Given the description of an element on the screen output the (x, y) to click on. 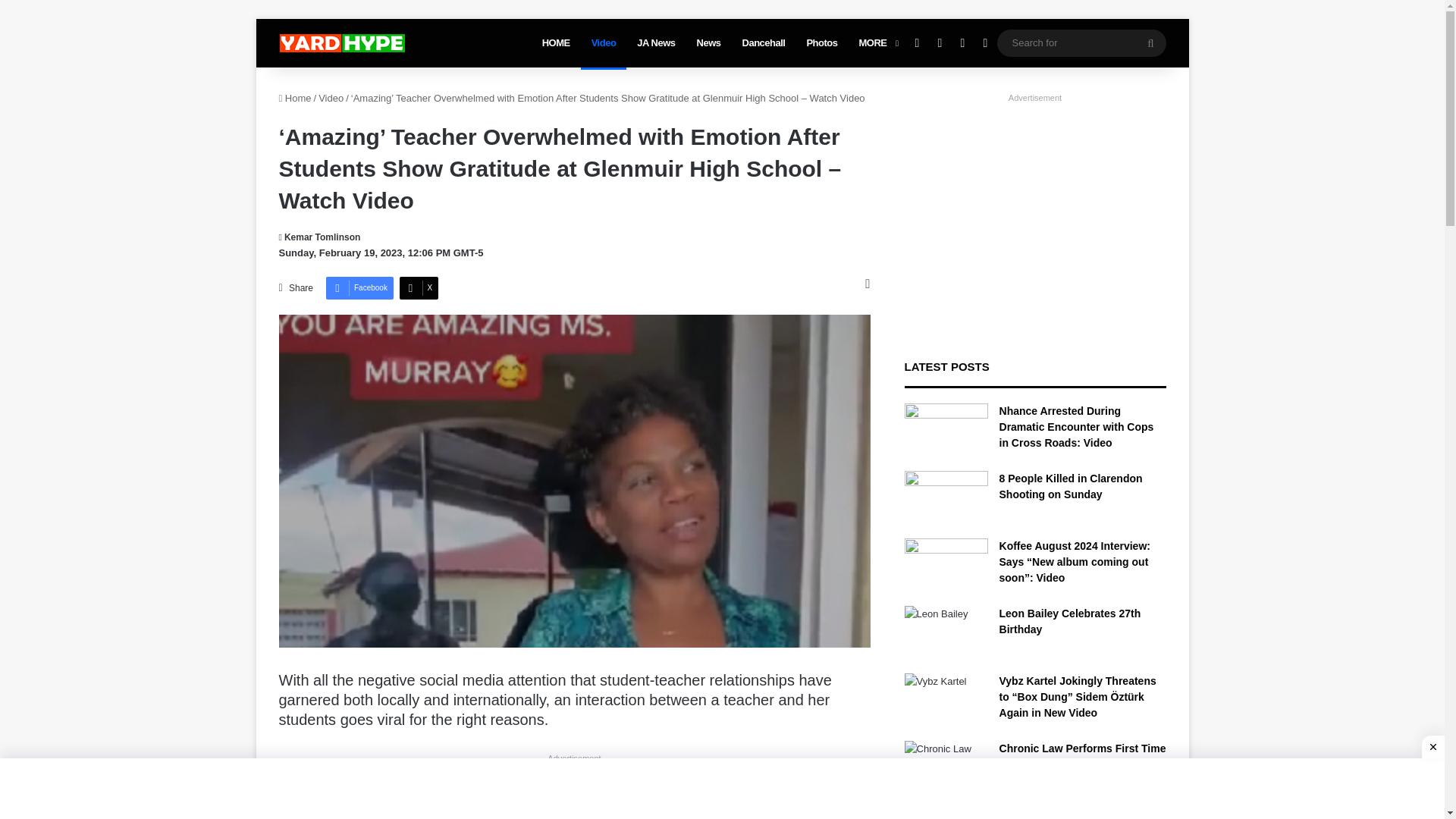
Video (603, 42)
Facebook (359, 287)
JA News (655, 42)
Search for (1080, 42)
MORE (876, 42)
Kemar Tomlinson (320, 236)
News (708, 42)
Kemar Tomlinson (320, 236)
X (418, 287)
Search for (1150, 42)
